Given the description of an element on the screen output the (x, y) to click on. 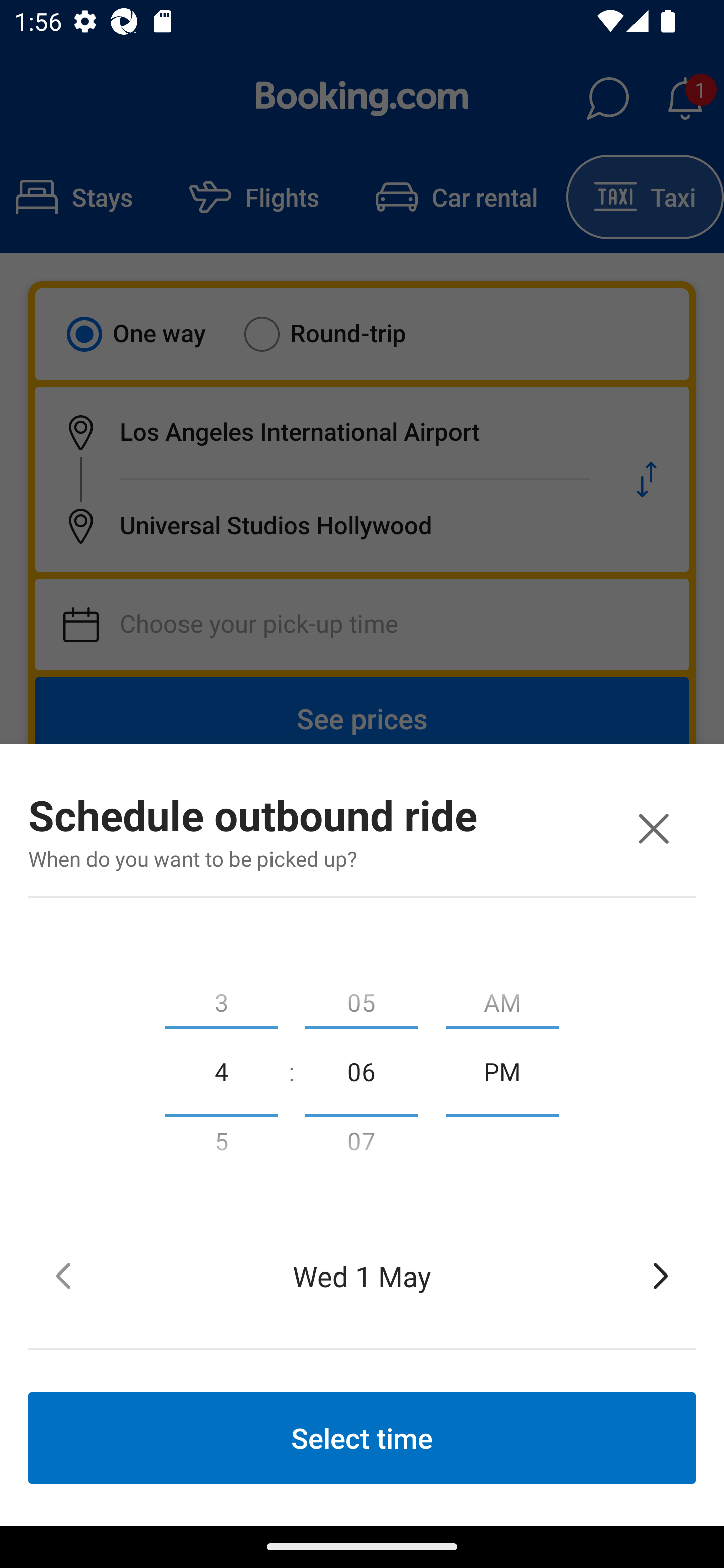
Close window (653, 828)
3 (221, 997)
05 (361, 997)
AM (501, 997)
4 (221, 1070)
06 (361, 1070)
PM (501, 1070)
5 (221, 1144)
07 (361, 1144)
Tap to move back to the previous date (63, 1275)
Tap to move forward to the next date (660, 1275)
Wed 1 May Selected date, Wednesday, 1 May (361, 1275)
Select time (361, 1437)
